Given the description of an element on the screen output the (x, y) to click on. 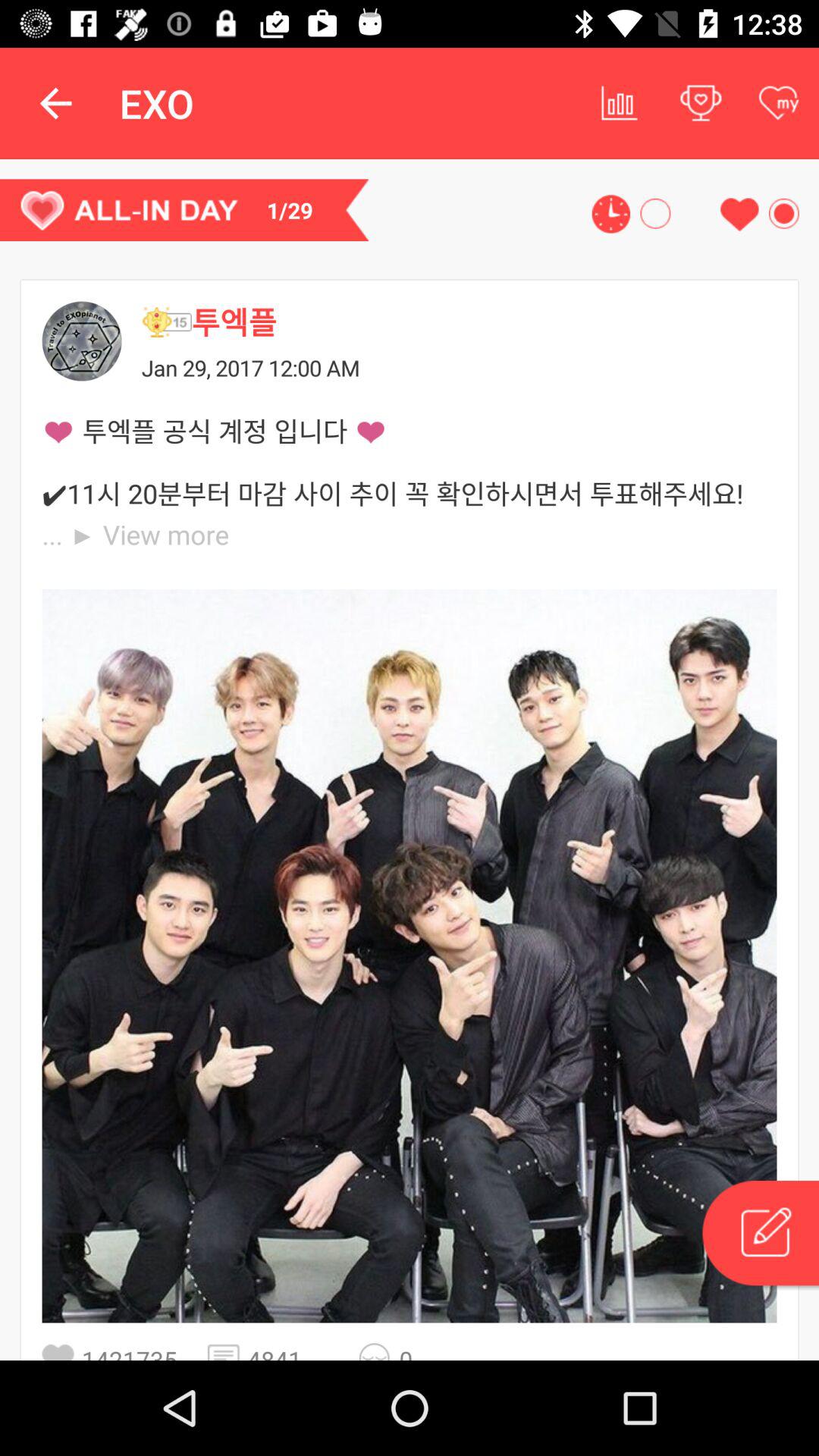
go back (81, 341)
